Given the description of an element on the screen output the (x, y) to click on. 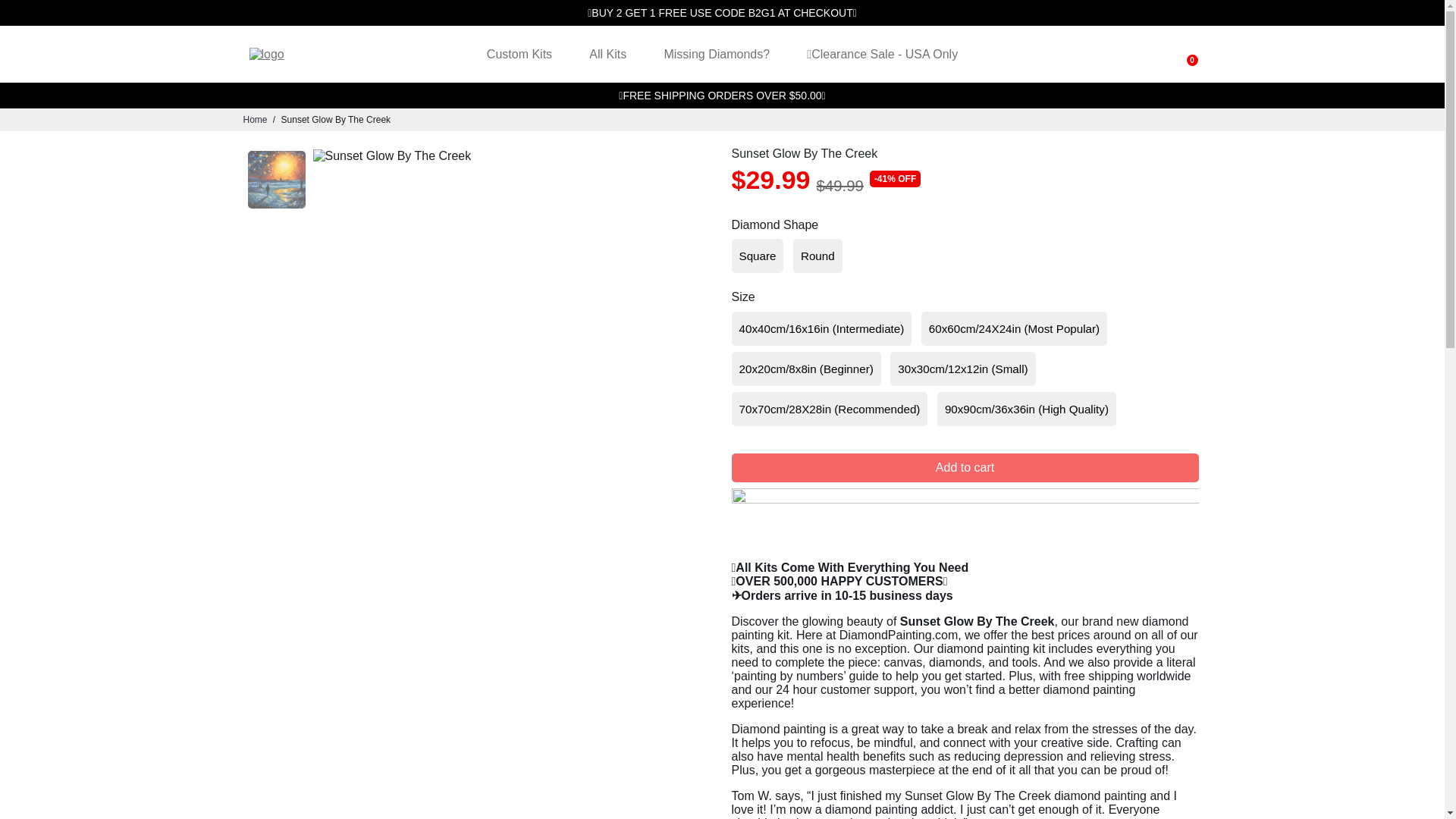
Missing Diamonds? (715, 53)
Add to cart (964, 467)
Home (254, 119)
Custom Kits (519, 53)
All Kits (607, 53)
Home (254, 119)
